Given the description of an element on the screen output the (x, y) to click on. 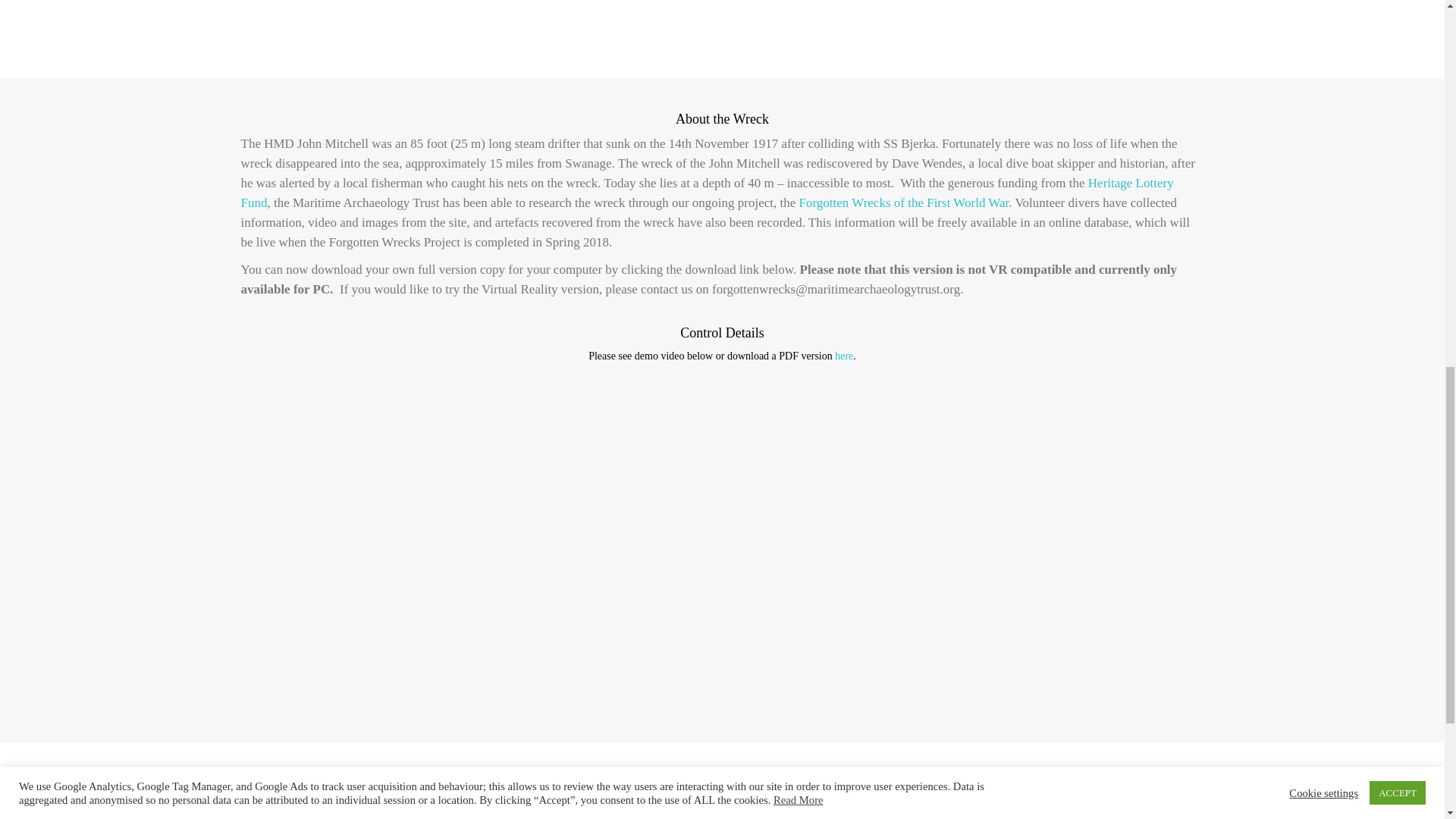
Interactive John Mitchel Model Demo (722, 25)
